Given the description of an element on the screen output the (x, y) to click on. 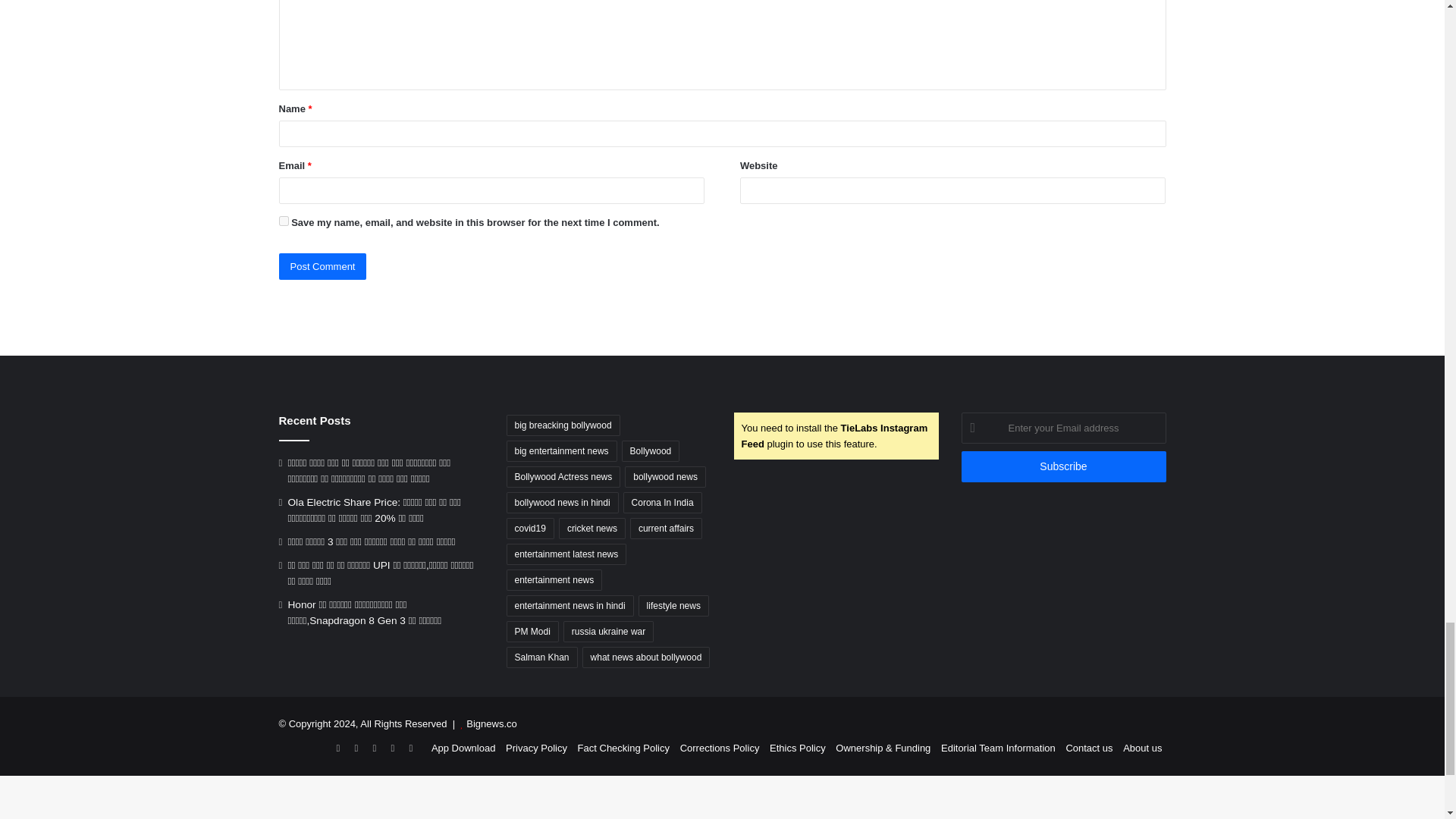
Subscribe (1063, 466)
Post Comment (322, 266)
yes (283, 221)
